Given the description of an element on the screen output the (x, y) to click on. 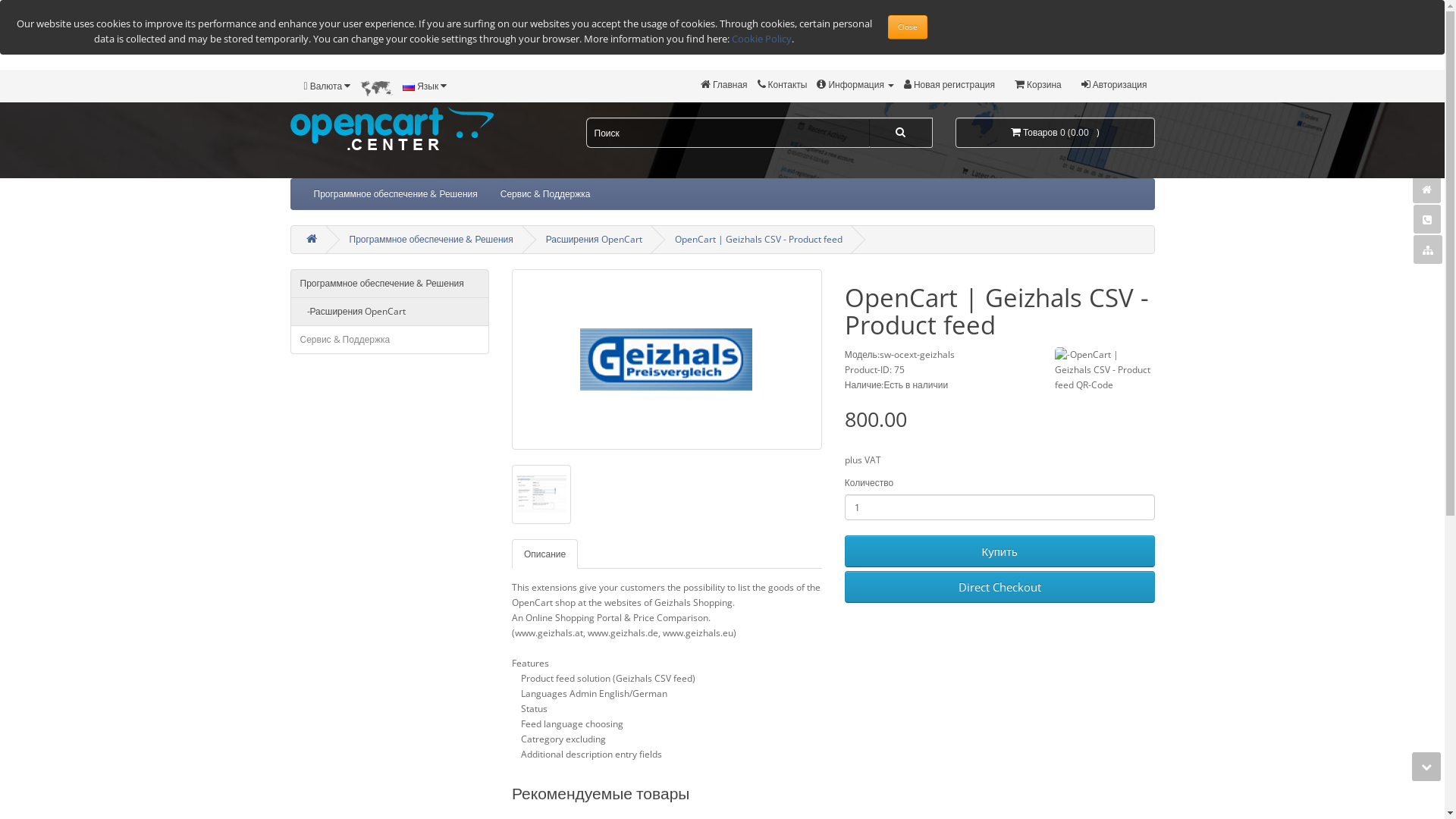
OpenCart | Geizhals CSV - Product feed Element type: hover (666, 359)
OpenCart | Geizhals CSV - Product feed | QR Code Element type: hover (1104, 397)
OpenCart | Geizhals CSV - Product feed Element type: hover (666, 359)
Close Element type: text (906, 27)
OpenCart | Geizhals CSV - Product feed Element type: text (758, 238)
Cookie Policy Element type: text (761, 38)
OpenCart.Center Element type: hover (390, 128)
OpenCart | Geizhals CSV - Product feed Element type: hover (541, 494)
OpenCart | Geizhals CSV - Product feed Element type: hover (541, 494)
